Given the description of an element on the screen output the (x, y) to click on. 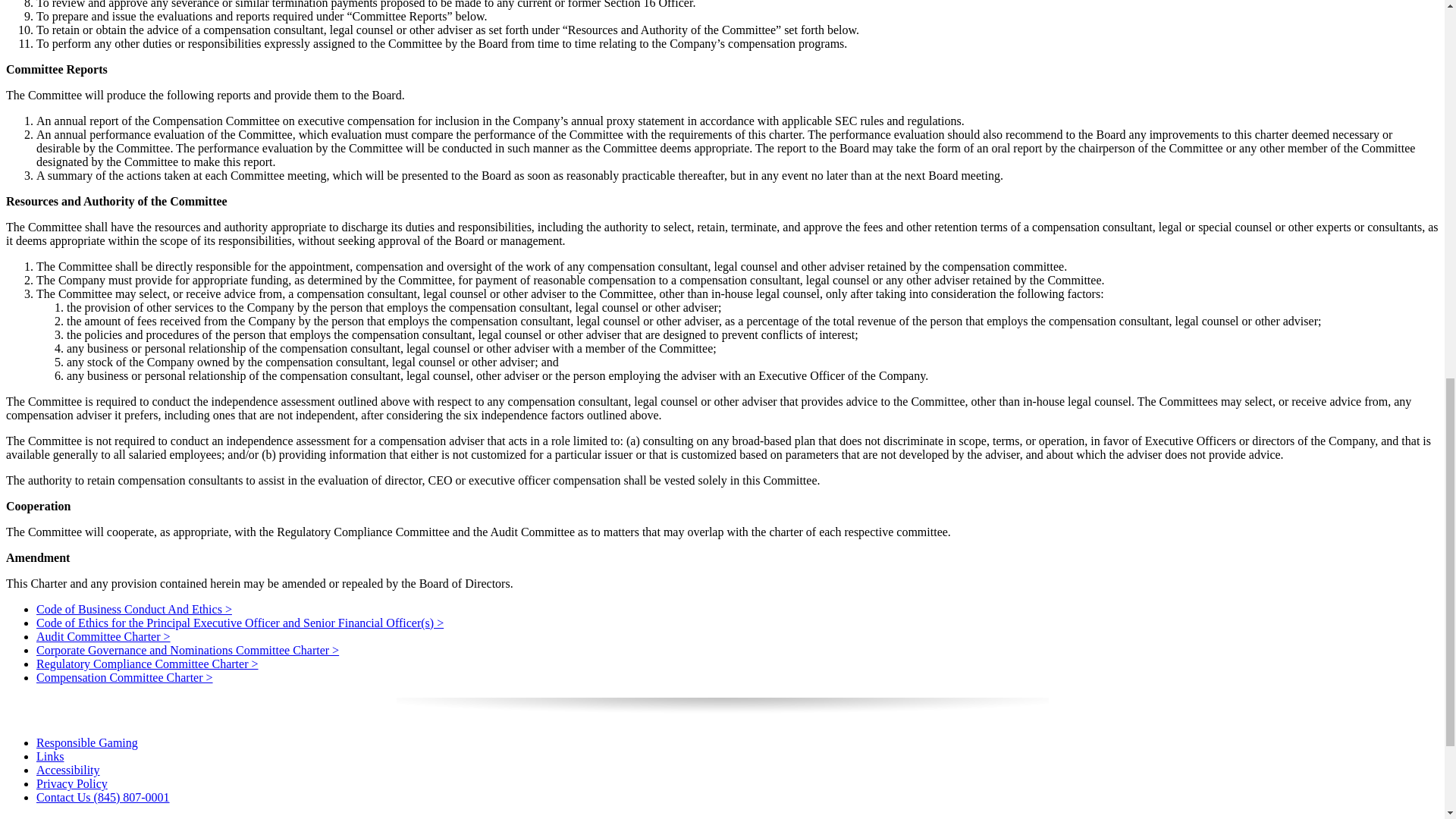
Responsible Gaming (87, 742)
Accessibility (68, 769)
Privacy Policy (71, 783)
Links (50, 756)
